Given the description of an element on the screen output the (x, y) to click on. 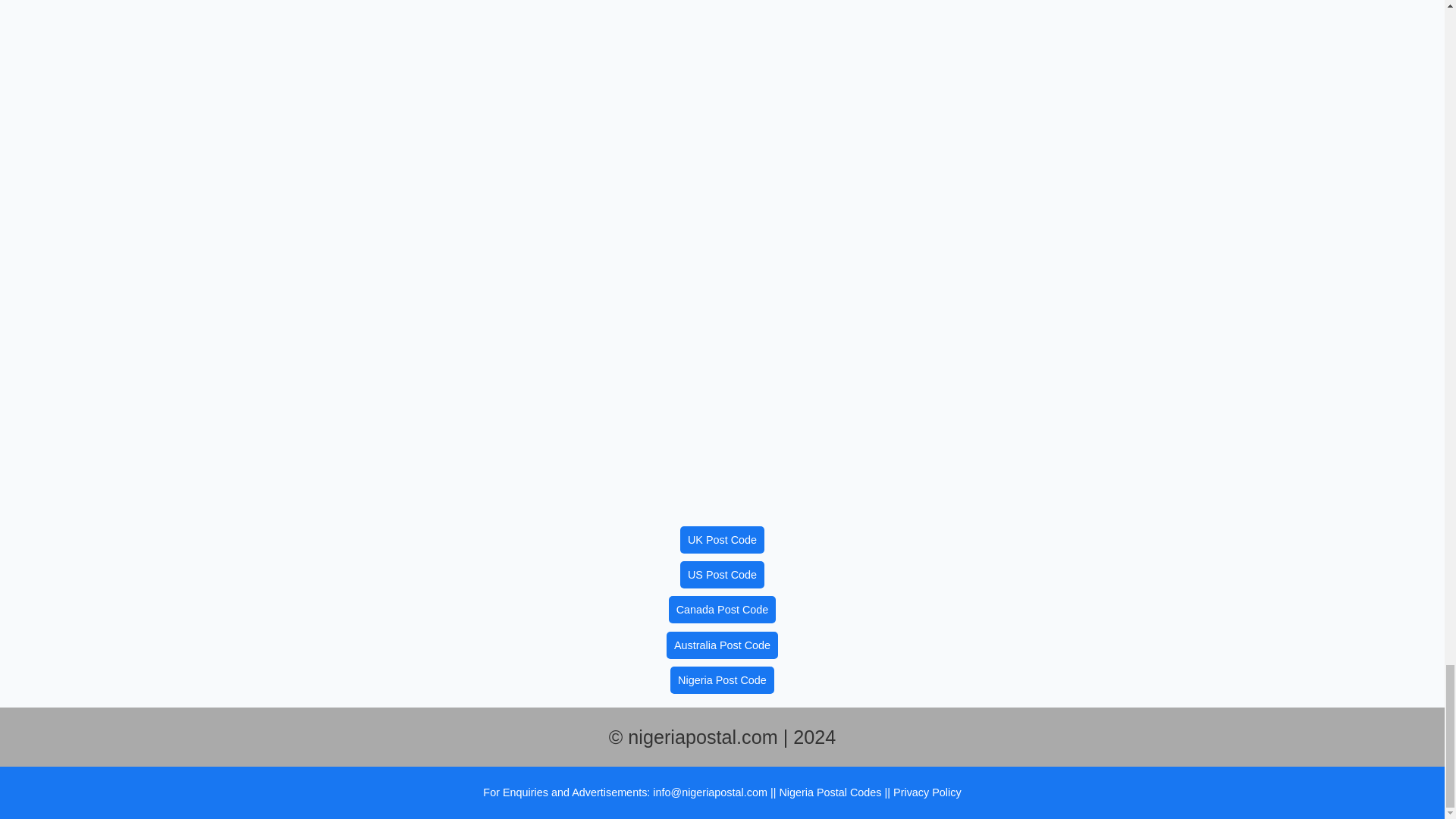
Nigeria Post Code (721, 679)
Privacy Policy (926, 792)
UK Post Code (721, 539)
Canada Post Code (722, 609)
Australia Post Code (721, 645)
US Post Code (721, 574)
Nigeria Postal Codes (830, 792)
